Given the description of an element on the screen output the (x, y) to click on. 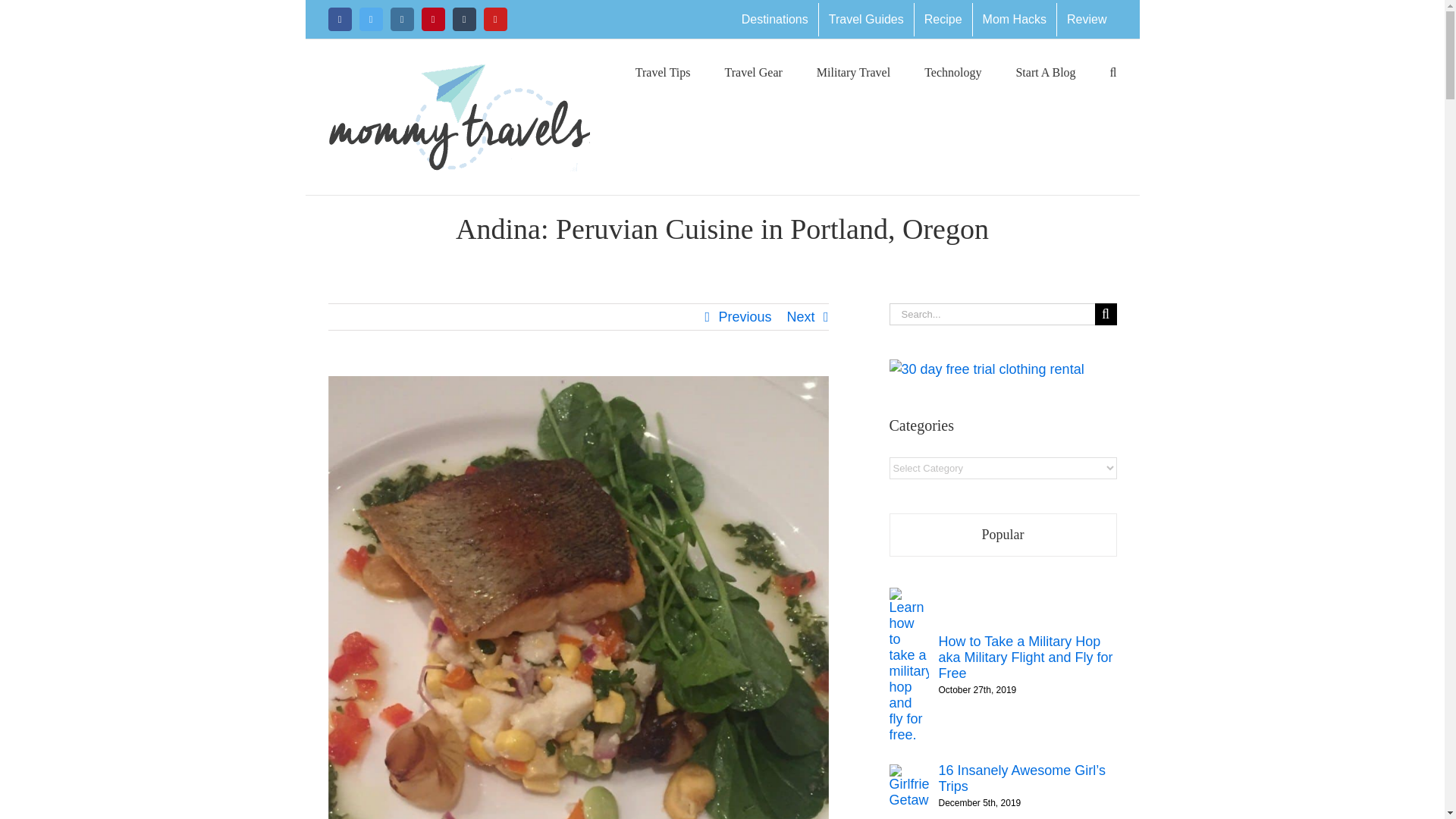
Twitter (370, 19)
Instagram (401, 19)
Twitter (370, 19)
Tumblr (463, 19)
Facebook (338, 19)
Facebook (338, 19)
Instagram (401, 19)
YouTube (494, 19)
Pinterest (433, 19)
